Given the description of an element on the screen output the (x, y) to click on. 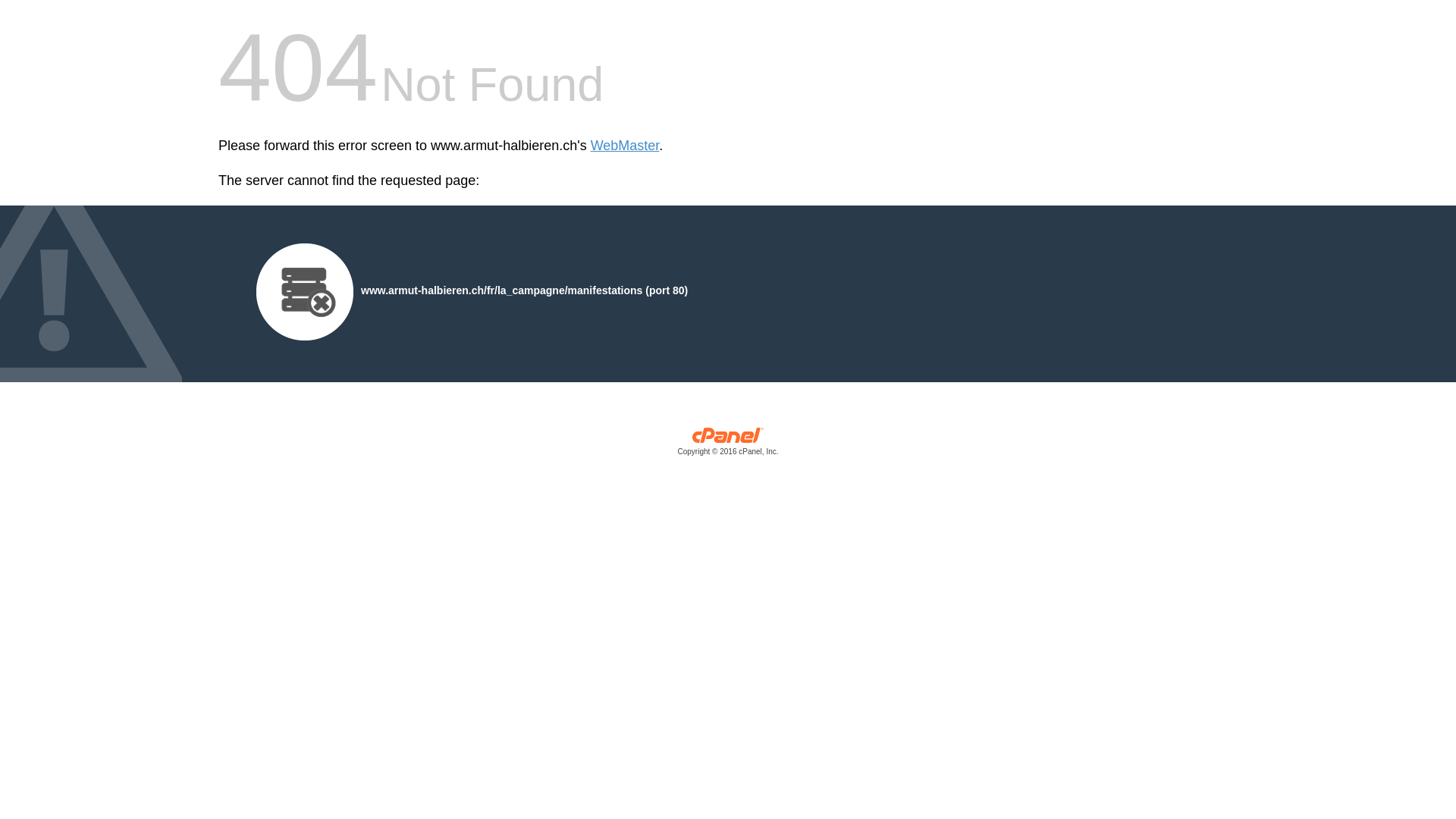
WebMaster Element type: text (624, 145)
